Given the description of an element on the screen output the (x, y) to click on. 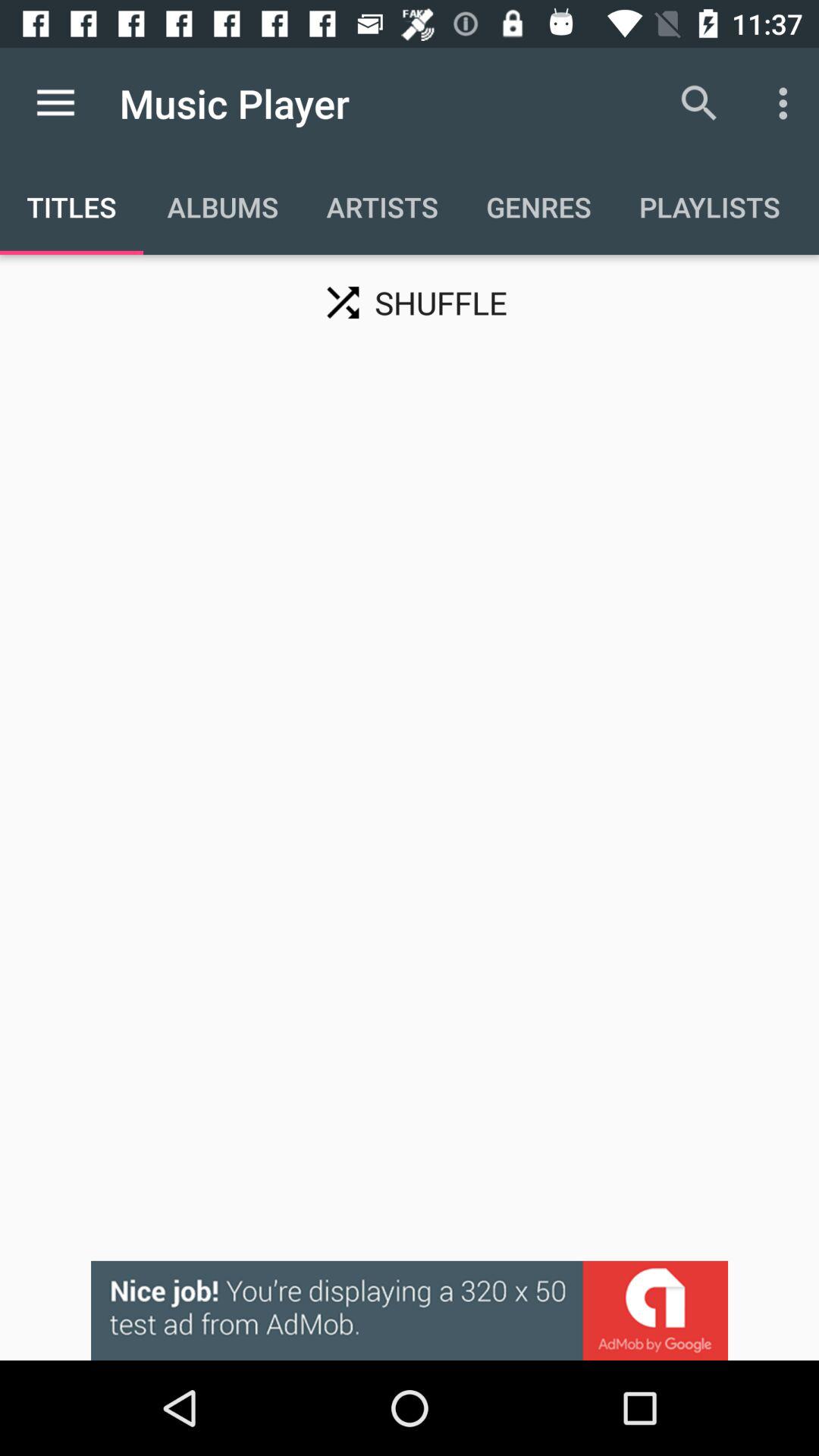
interact with advertisement (409, 1310)
